Given the description of an element on the screen output the (x, y) to click on. 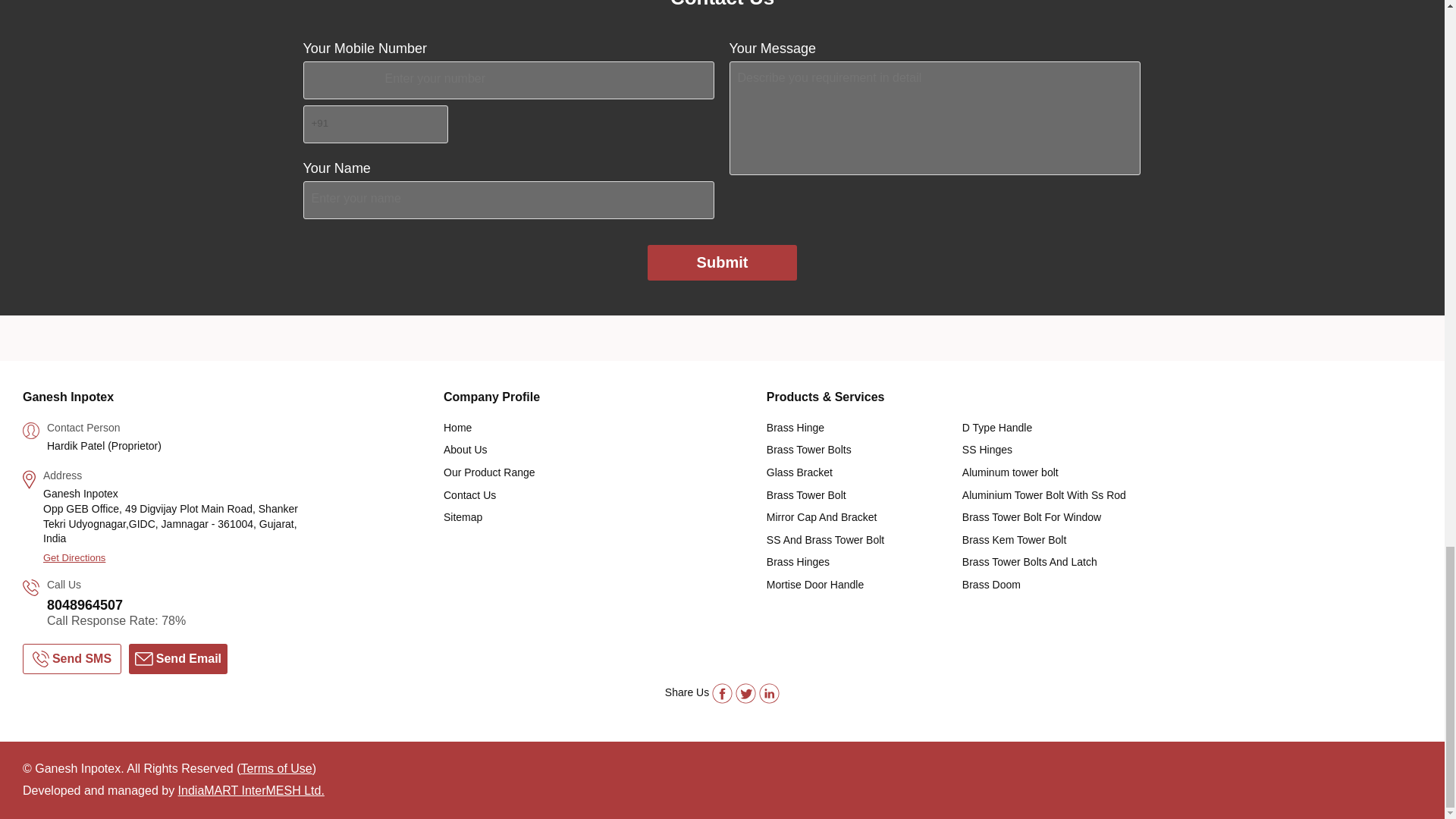
Submit (722, 262)
